Given the description of an element on the screen output the (x, y) to click on. 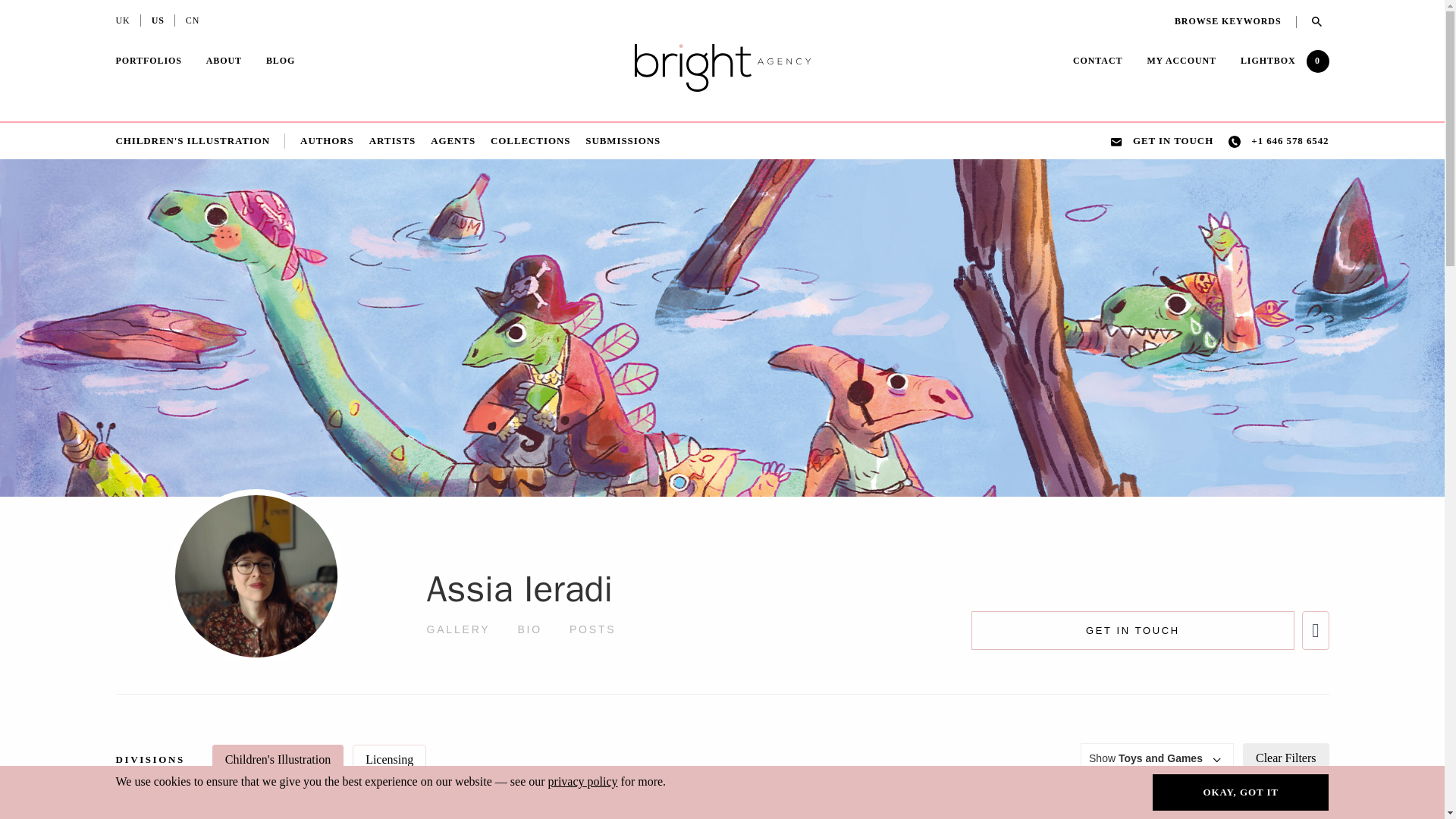
CONTACT (1097, 62)
US (157, 22)
CN (192, 22)
BLOG (280, 60)
MY ACCOUNT (1181, 60)
ABOUT (223, 62)
BROWSE KEYWORDS (1235, 21)
PORTFOLIOS (147, 62)
Search (1313, 21)
UK (122, 22)
